Given the description of an element on the screen output the (x, y) to click on. 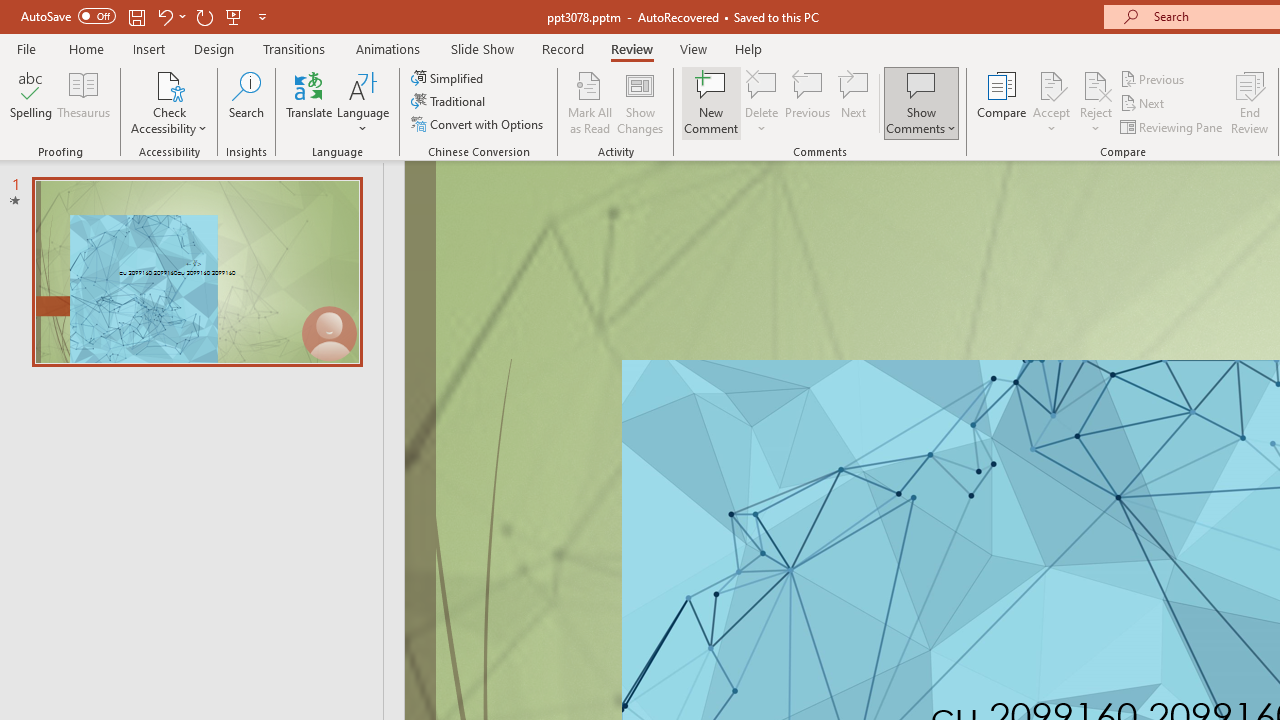
Convert with Options... (479, 124)
